Given the description of an element on the screen output the (x, y) to click on. 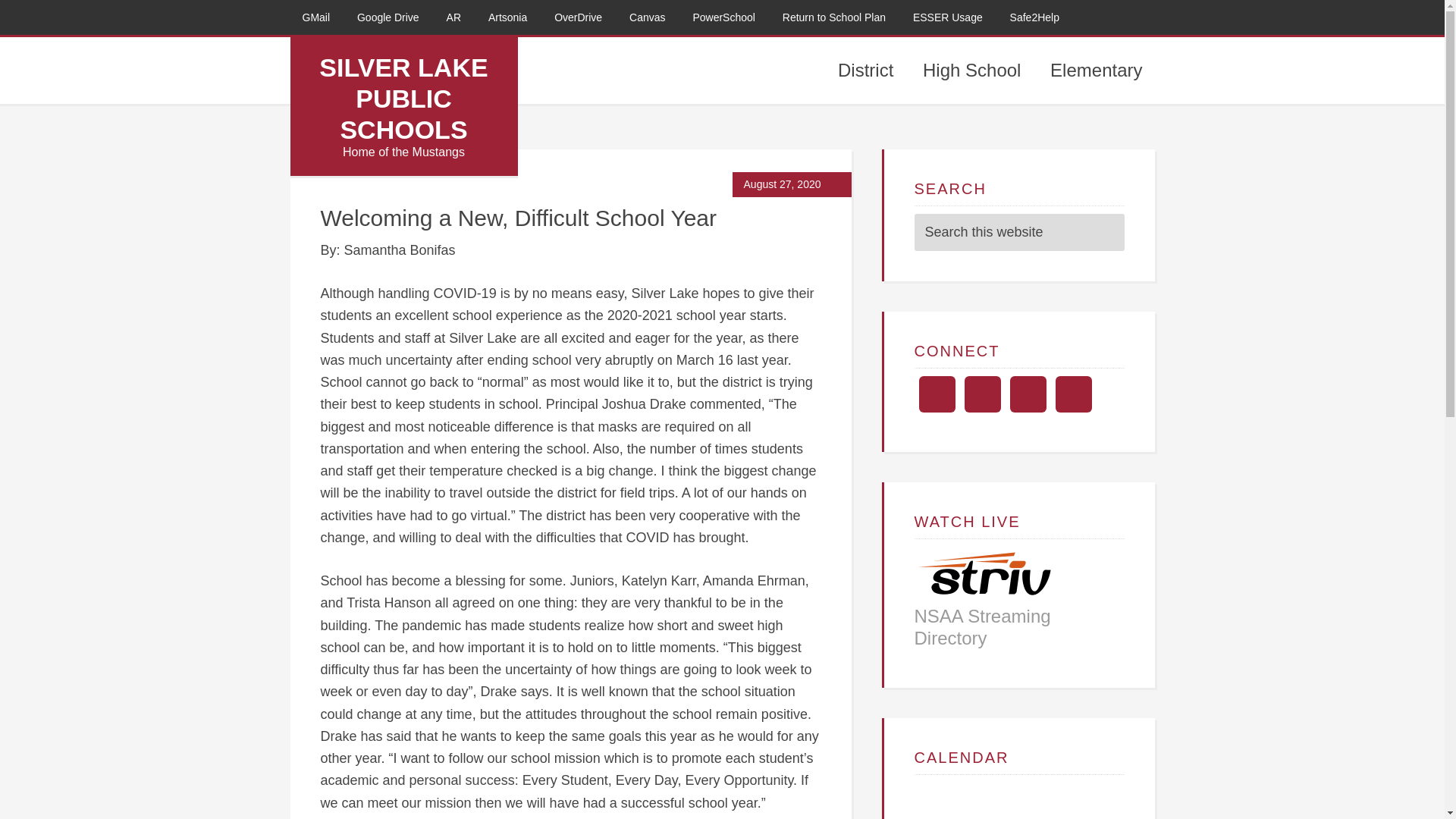
PowerSchool (723, 17)
Elementary (1096, 70)
ESSER Usage (947, 17)
AR (453, 17)
High School (971, 70)
Artsonia (507, 17)
SILVER LAKE PUBLIC SCHOOLS (402, 98)
Safe2Help (1034, 17)
